Given the description of an element on the screen output the (x, y) to click on. 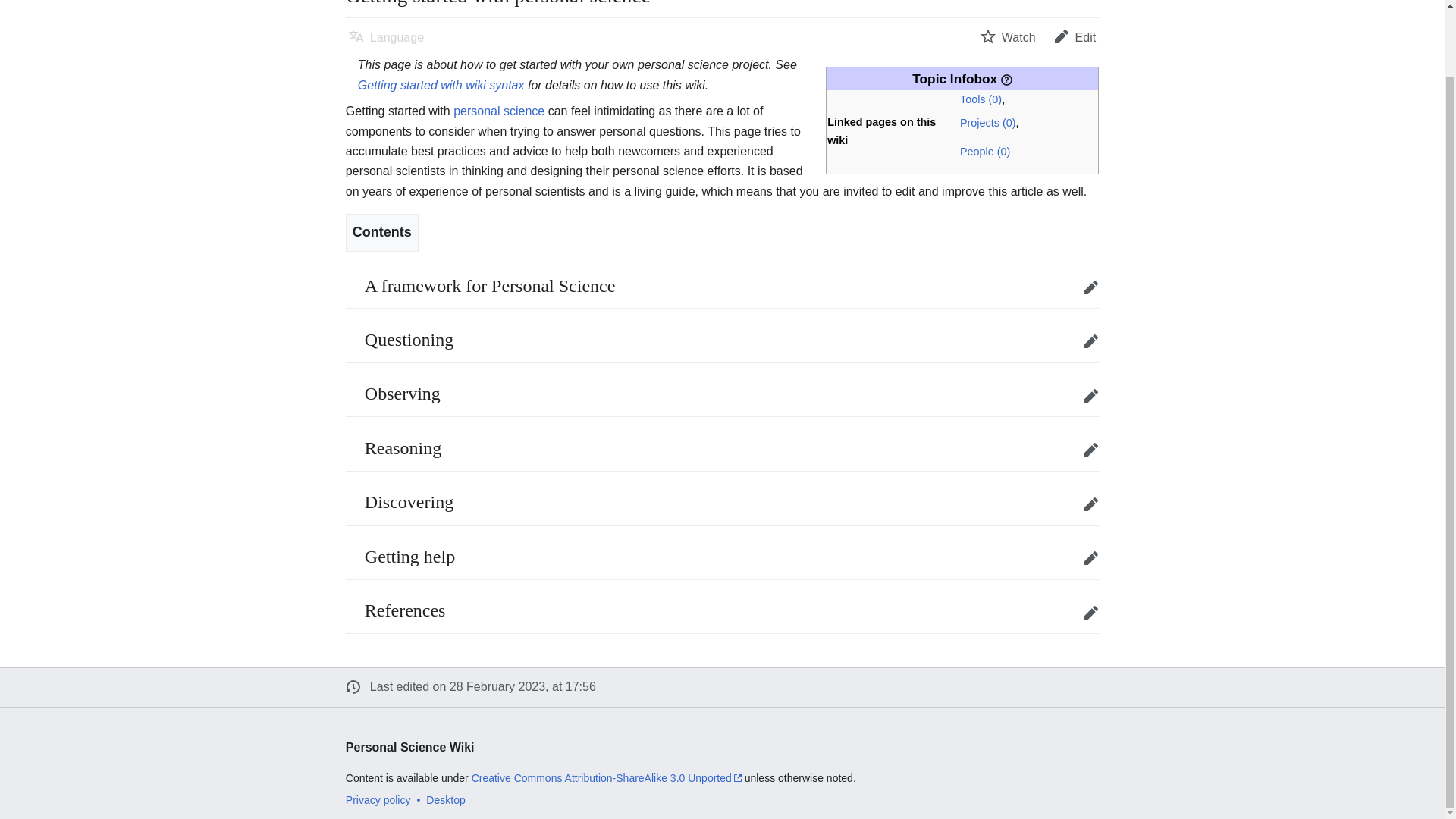
Watch (1008, 36)
Getting started with wiki syntax (441, 84)
Watch (1008, 36)
Help:Getting started with wiki syntax (441, 84)
Language (385, 36)
Edit the lead section of this page (1075, 36)
personal science (498, 110)
Language (385, 36)
Edit section: Questioning (1091, 340)
Edit (1075, 36)
Edit section: A framework for Personal Science (1091, 287)
Personal science (498, 110)
